Given the description of an element on the screen output the (x, y) to click on. 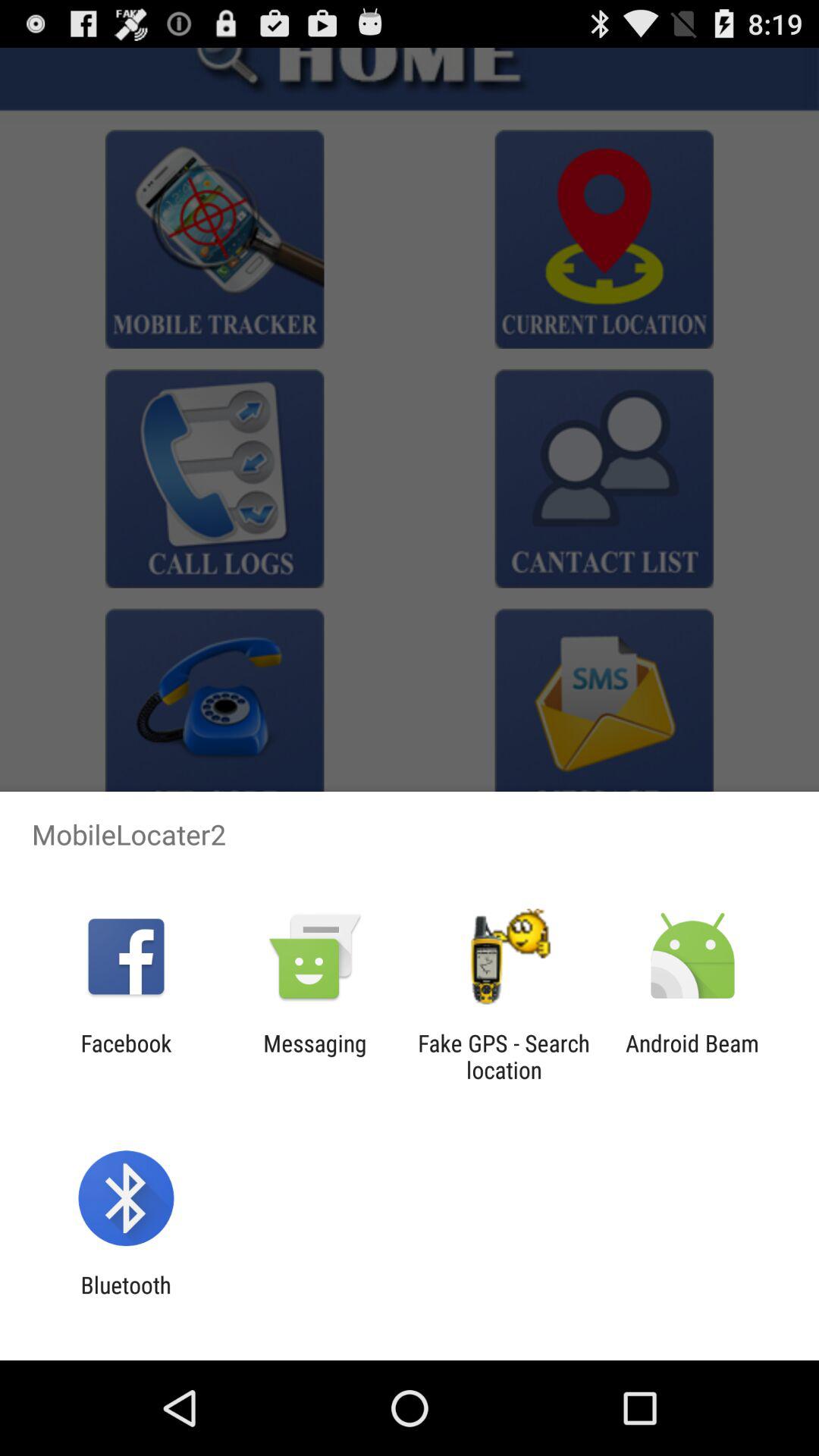
select the fake gps search item (503, 1056)
